Given the description of an element on the screen output the (x, y) to click on. 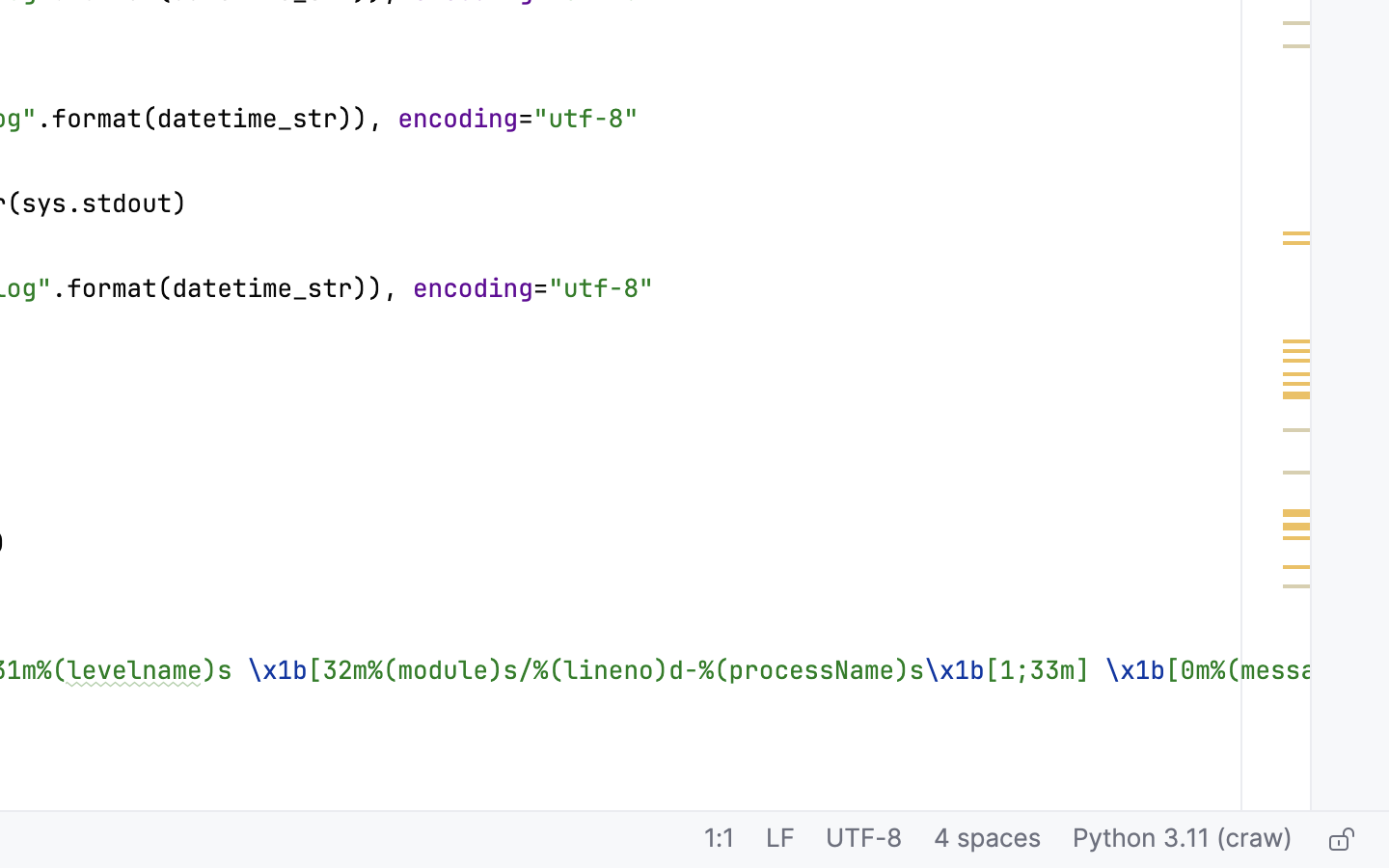
Make file read-only Element type: AXStaticText (1338, 840)
